Given the description of an element on the screen output the (x, y) to click on. 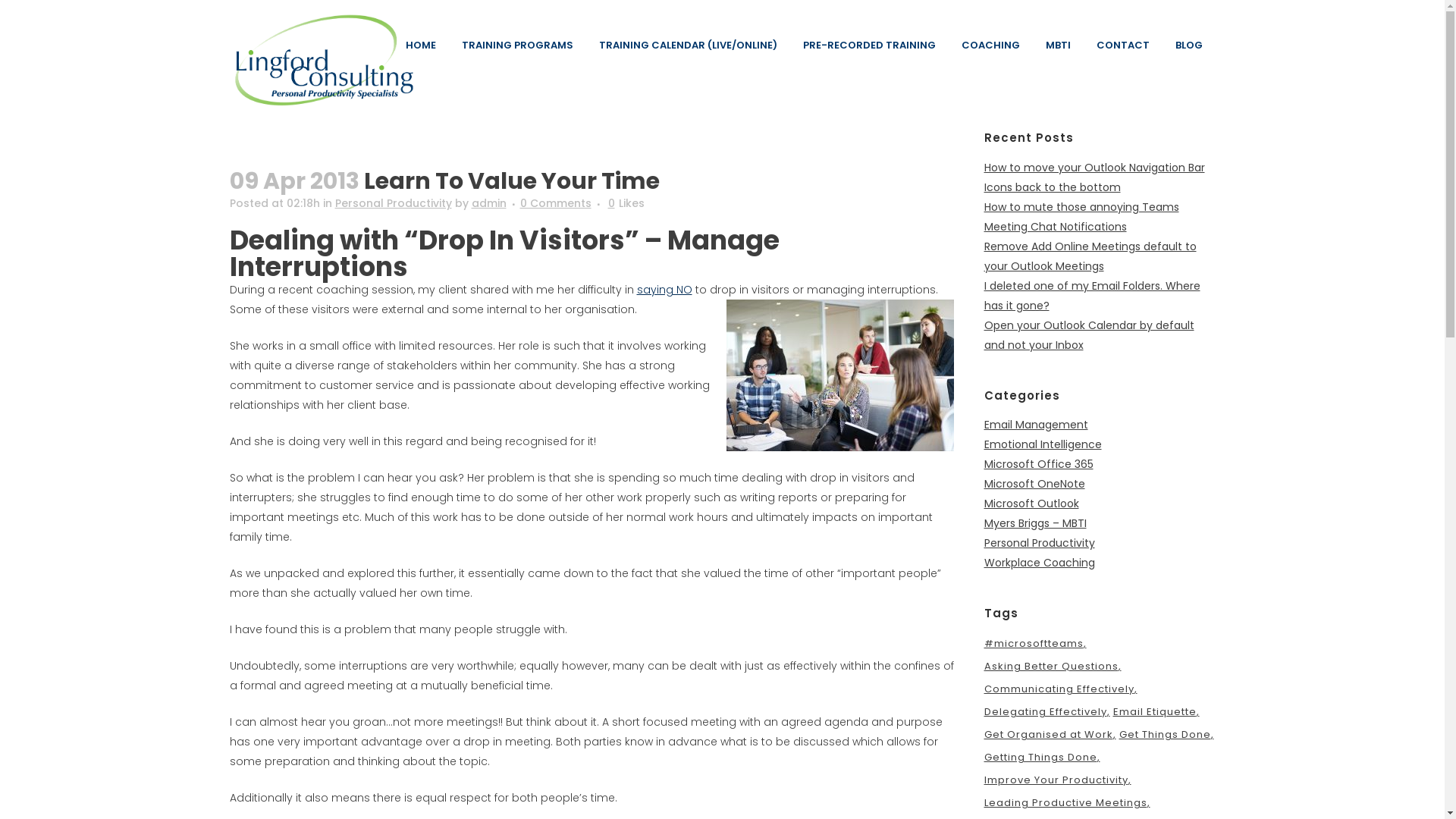
CONTACT Element type: text (1121, 45)
MBTI Element type: text (1057, 45)
Get Things Done Element type: text (1166, 734)
Communicating Effectively Element type: text (1060, 689)
How to mute those annoying Teams Meeting Chat Notifications Element type: text (1081, 216)
Personal Productivity Element type: text (1039, 542)
Remove Add Online Meetings default to your Outlook Meetings Element type: text (1090, 255)
saying NO Element type: text (664, 289)
Email Management Element type: text (1036, 424)
BLOG Element type: text (1187, 45)
Microsoft Outlook Element type: text (1031, 503)
Microsoft OneNote Element type: text (1034, 483)
Leading Productive Meetings Element type: text (1067, 802)
Get Organised at Work Element type: text (1050, 734)
Workplace Coaching Element type: text (1039, 562)
Delegating Effectively Element type: text (1047, 711)
COACHING Element type: text (989, 45)
Getting Things Done Element type: text (1042, 757)
HOME Element type: text (420, 45)
0 Comments Element type: text (555, 202)
Improve Your Productivity Element type: text (1057, 780)
TRAINING PROGRAMS Element type: text (517, 45)
Microsoft Office 365 Element type: text (1038, 463)
Email Etiquette Element type: text (1156, 711)
Asking Better Questions Element type: text (1052, 666)
Personal Productivity Element type: text (393, 202)
Open your Outlook Calendar by default and not your Inbox Element type: text (1089, 334)
TRAINING CALENDAR (LIVE/ONLINE) Element type: text (687, 45)
#microsoftteams Element type: text (1035, 643)
0 Likes Element type: text (626, 202)
Emotional Intelligence Element type: text (1042, 443)
I deleted one of my Email Folders. Where has it gone? Element type: text (1092, 295)
PRE-RECORDED TRAINING Element type: text (869, 45)
admin Element type: text (488, 202)
